Given the description of an element on the screen output the (x, y) to click on. 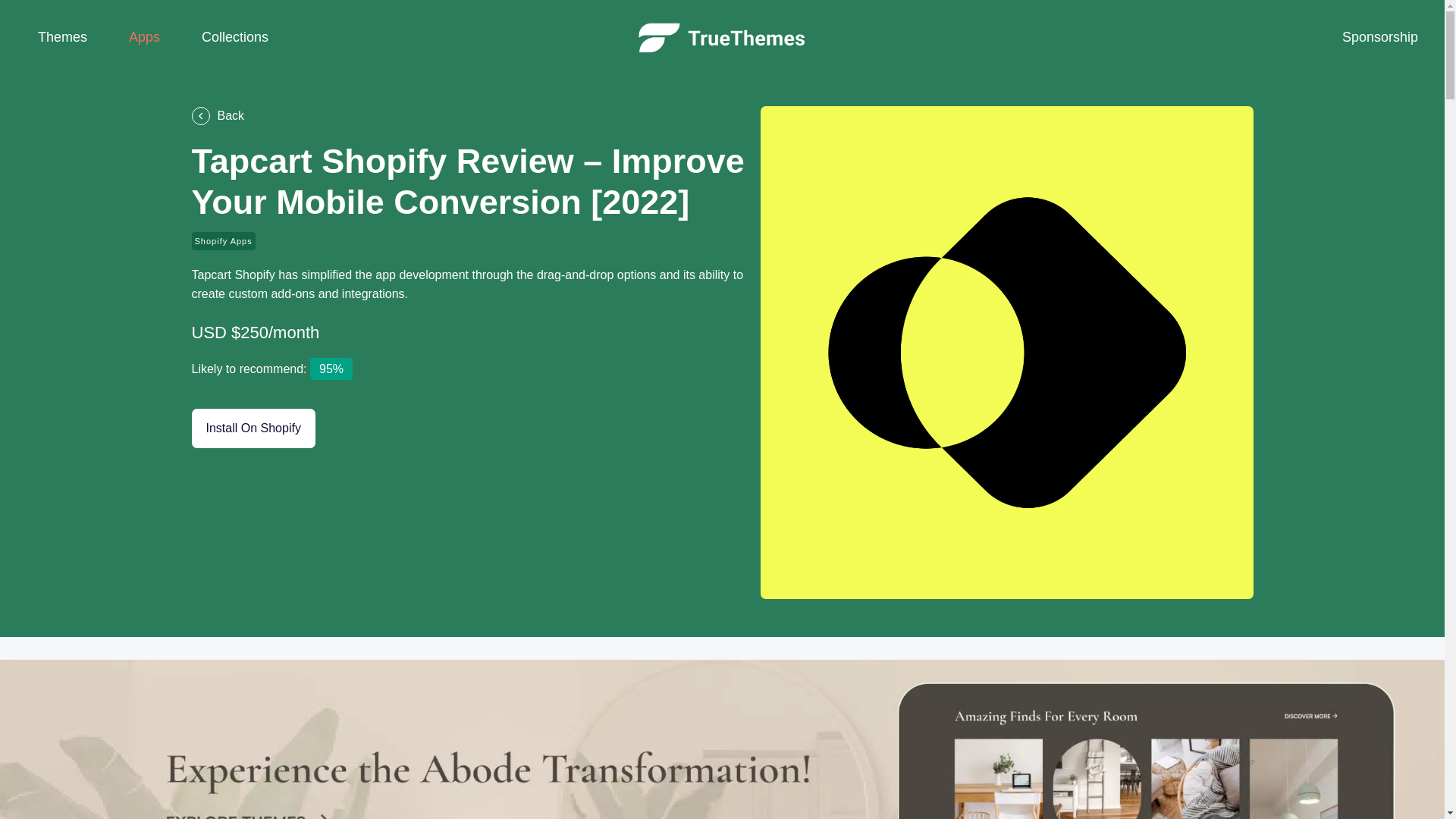
Apps (143, 38)
Back (467, 116)
Shopify Apps (222, 240)
Sponsorship (1379, 38)
Skip to content (15, 7)
Install On Shopify (252, 427)
Collections (234, 38)
Themes (61, 38)
